Given the description of an element on the screen output the (x, y) to click on. 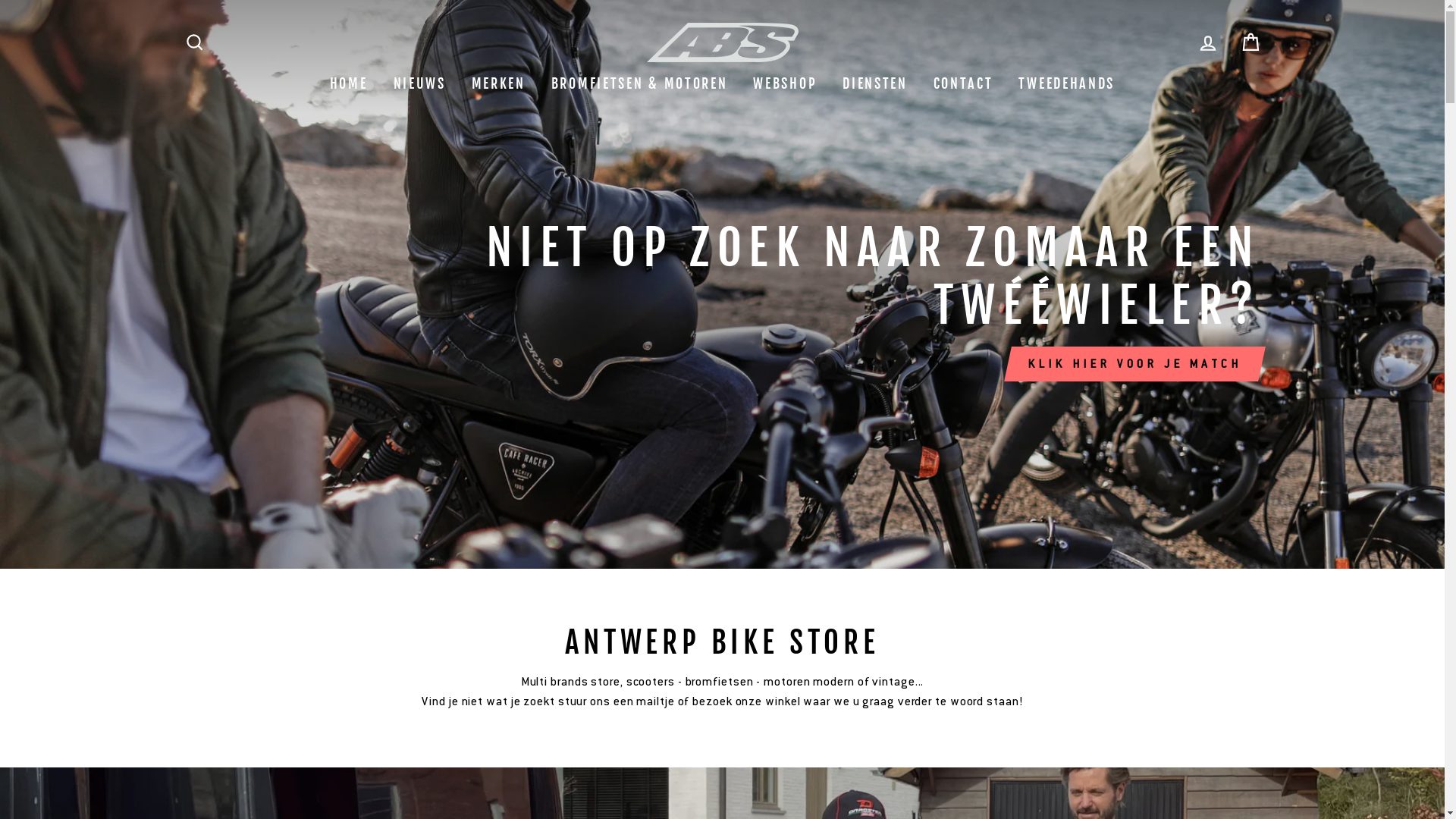
NIEUWS Element type: text (419, 83)
WEBSHOP Element type: text (784, 83)
HOME Element type: text (348, 83)
MERKEN Element type: text (498, 83)
LOG IN Element type: text (1207, 41)
DIENSTEN Element type: text (875, 83)
KLIK HIER VOOR JE MATCH Element type: text (1134, 363)
CONTACT Element type: text (963, 83)
CART Element type: text (1249, 41)
BROMFIETSEN & MOTOREN Element type: text (639, 83)
TWEEDEHANDS Element type: text (1066, 83)
SEARCH Element type: text (193, 41)
Skip to content Element type: text (0, 0)
